Given the description of an element on the screen output the (x, y) to click on. 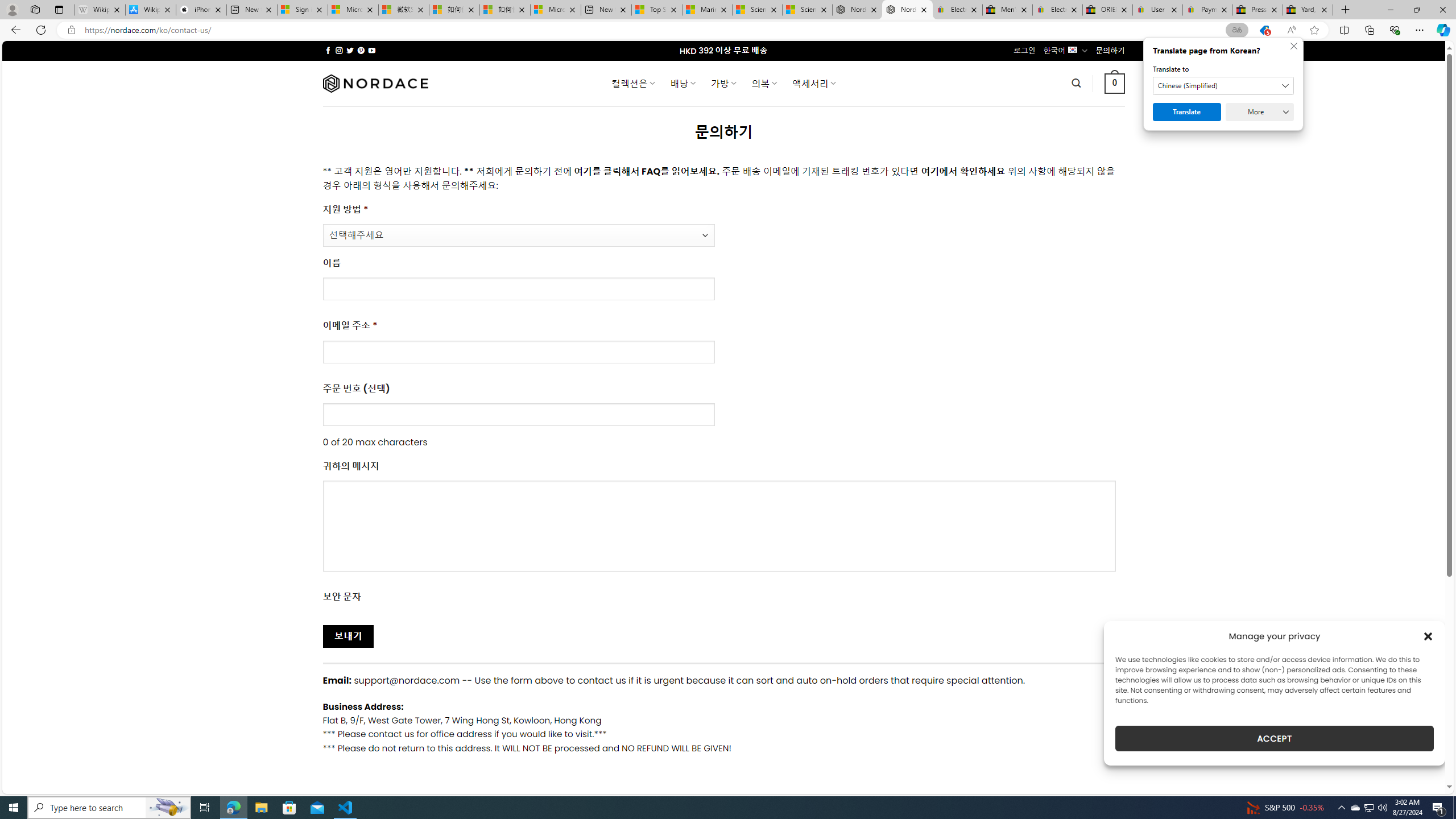
This site has coupons! Shopping in Microsoft Edge, 5 (1263, 29)
